Given the description of an element on the screen output the (x, y) to click on. 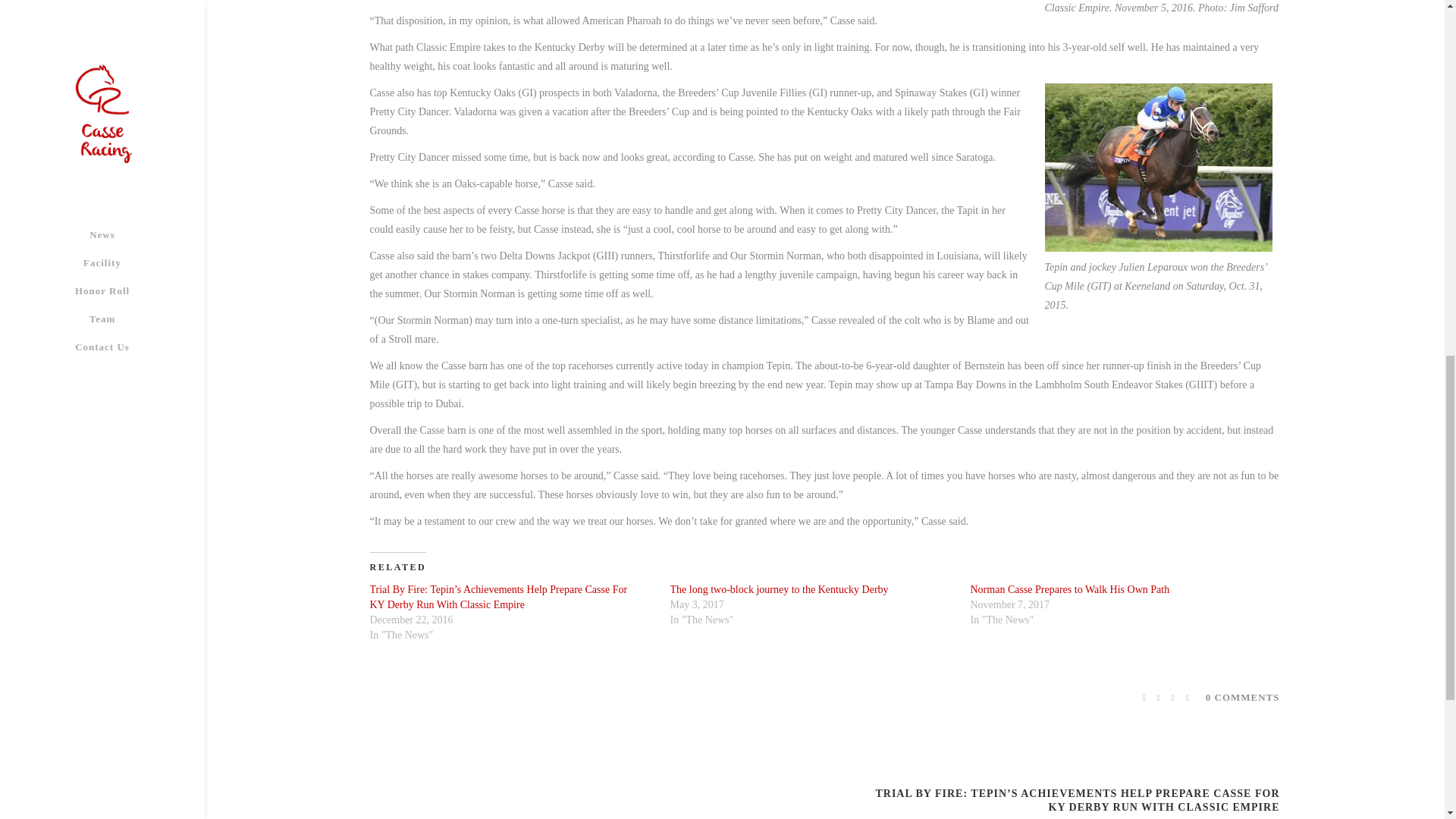
0 COMMENTS (1242, 696)
Norman Casse Prepares to Walk His Own Path (1070, 589)
The long two-block journey to the Kentucky Derby (778, 589)
The long two-block journey to the Kentucky Derby (778, 589)
NEXT POST (1244, 818)
Norman Casse Prepares to Walk His Own Path (1070, 589)
